Given the description of an element on the screen output the (x, y) to click on. 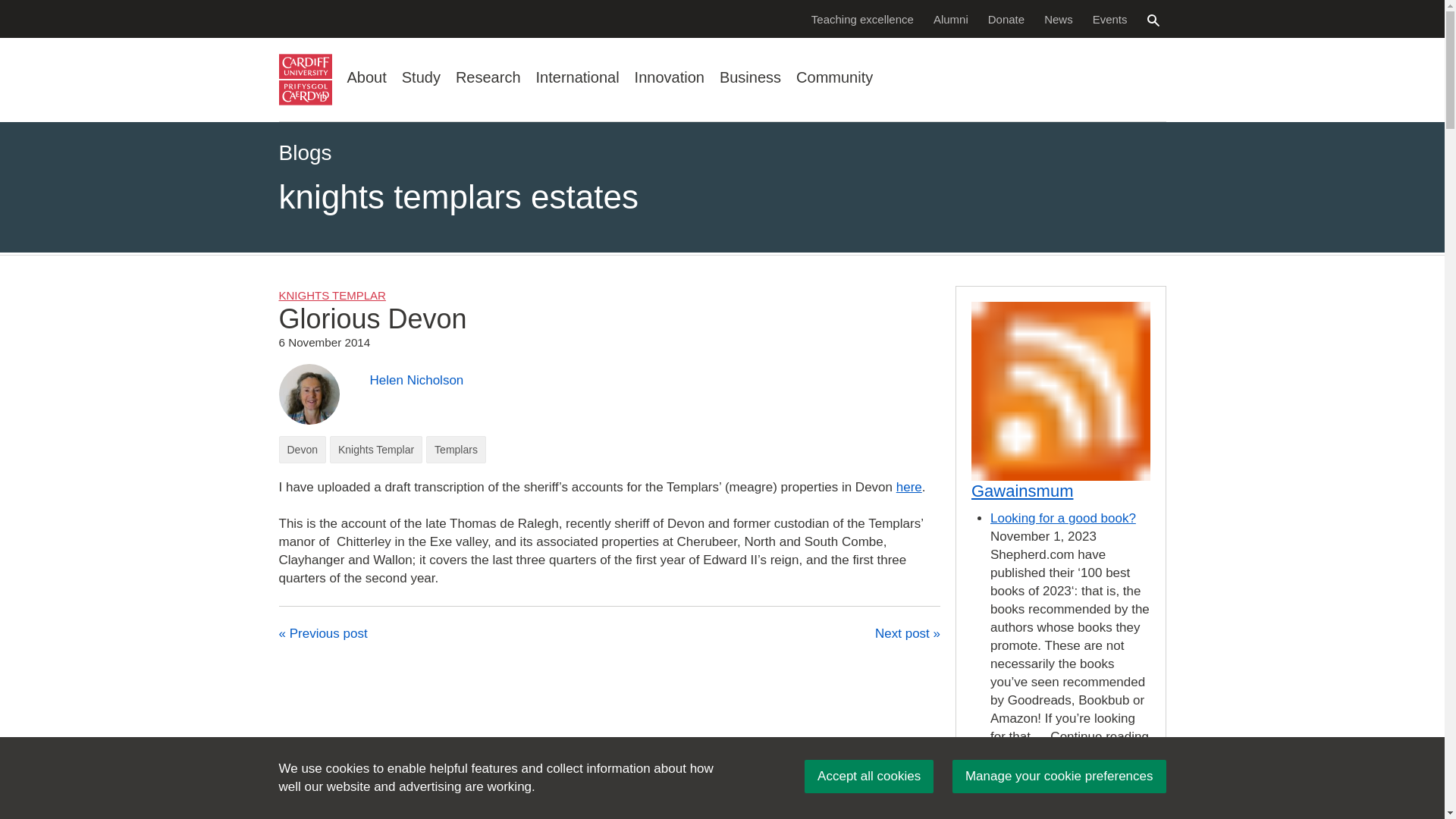
Search (1152, 20)
Accept all cookies (869, 776)
View all posts in Knights Templar (332, 295)
Teaching excellence (862, 19)
Alumni (951, 19)
Events (1109, 19)
Cardiff University logo (305, 79)
Cardiff University logo (305, 79)
Manage your cookie preferences (1059, 776)
Donate (1005, 19)
